Given the description of an element on the screen output the (x, y) to click on. 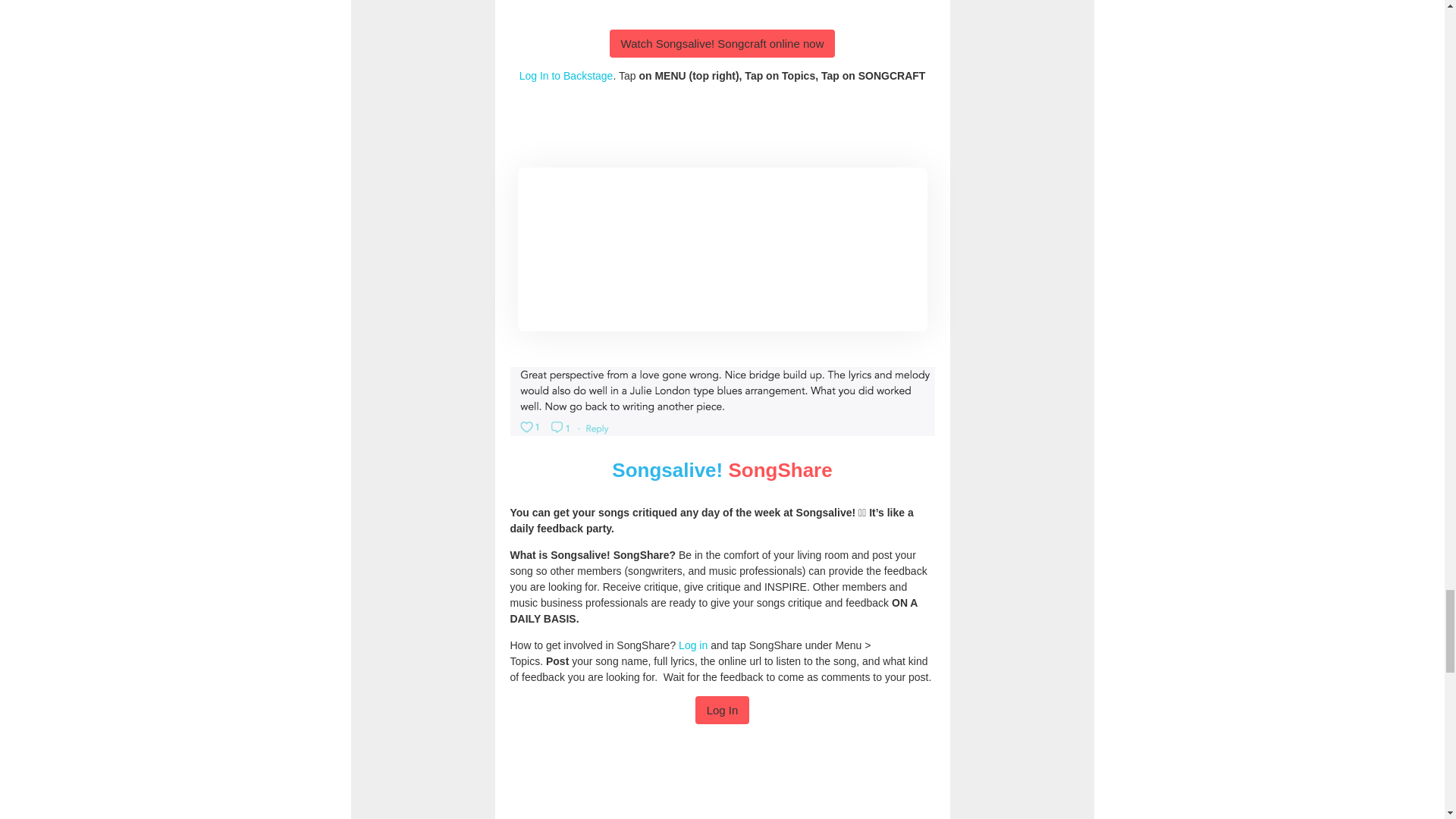
Log In to Backstage (565, 75)
Log in (692, 645)
Watch Songsalive! Songcraft online now (722, 43)
Log In (722, 709)
